Given the description of an element on the screen output the (x, y) to click on. 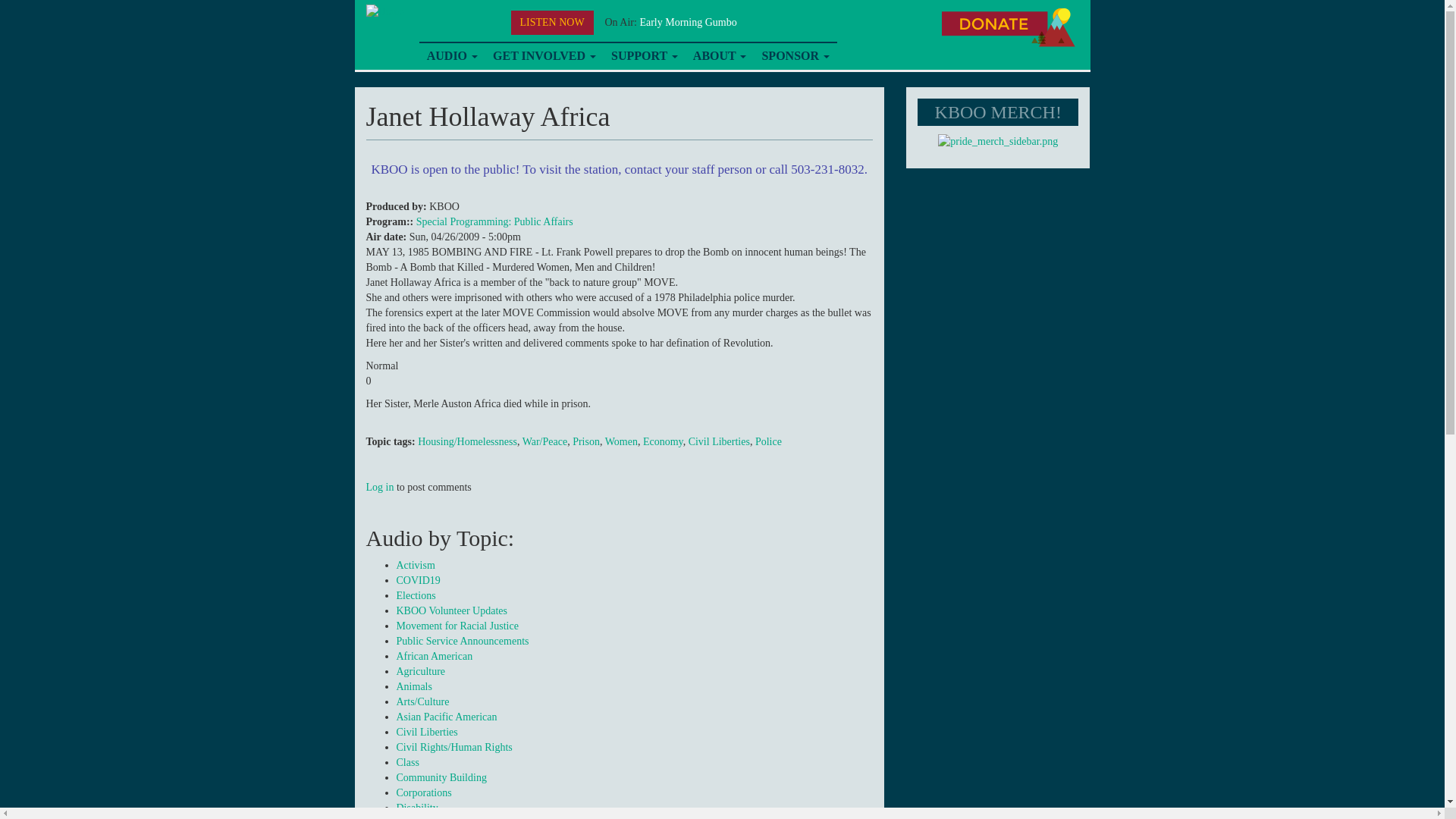
Early Morning Gumbo (687, 21)
LISTEN NOW (551, 22)
SUPPORT (644, 55)
GET INVOLVED (544, 55)
Home (384, 11)
ABOUT (719, 55)
AUDIO (451, 55)
